Given the description of an element on the screen output the (x, y) to click on. 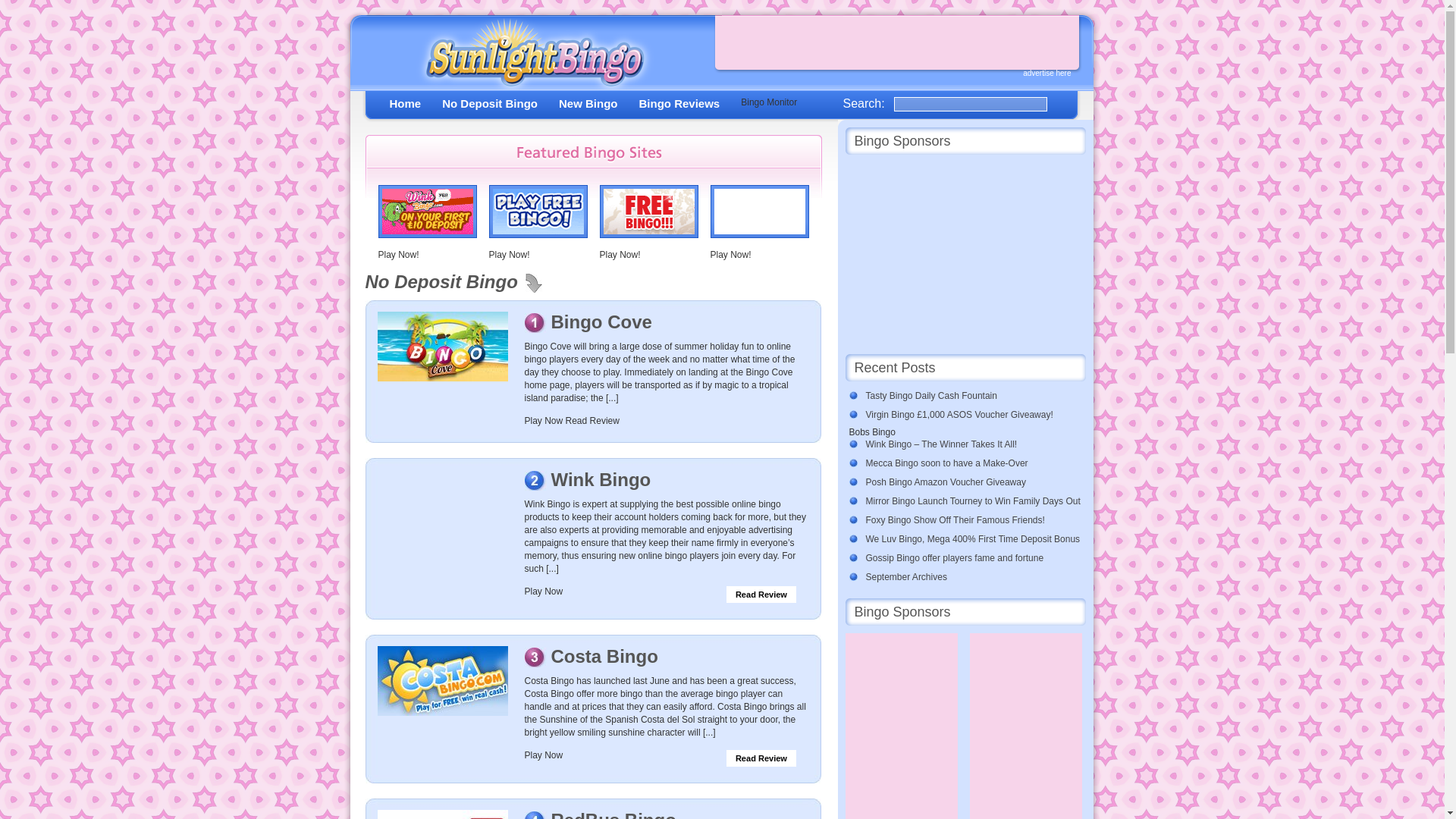
Foxy Bingo Show Off Their Famous Friends! (970, 520)
September Archives (970, 577)
Read Review (761, 758)
Sunlight Bingo (528, 56)
Foxy Bingo Show Off Their Famous Friends! (970, 520)
Mecca Bingo soon to have a Make-Over (970, 463)
Home (406, 103)
Posh Bingo Amazon Voucher Giveaway (970, 482)
Gossip Bingo offer players fame and fortune (970, 558)
Bingo Reviews (679, 103)
Mirror Bingo Launch Tourney to Win Family Days Out (970, 501)
New Bingo (588, 103)
Tasty Bingo Daily Cash Fountain (970, 396)
No Deposit Bingo (489, 103)
Mirror Bingo Launch Tourney to Win Family Days Out (970, 501)
